Given the description of an element on the screen output the (x, y) to click on. 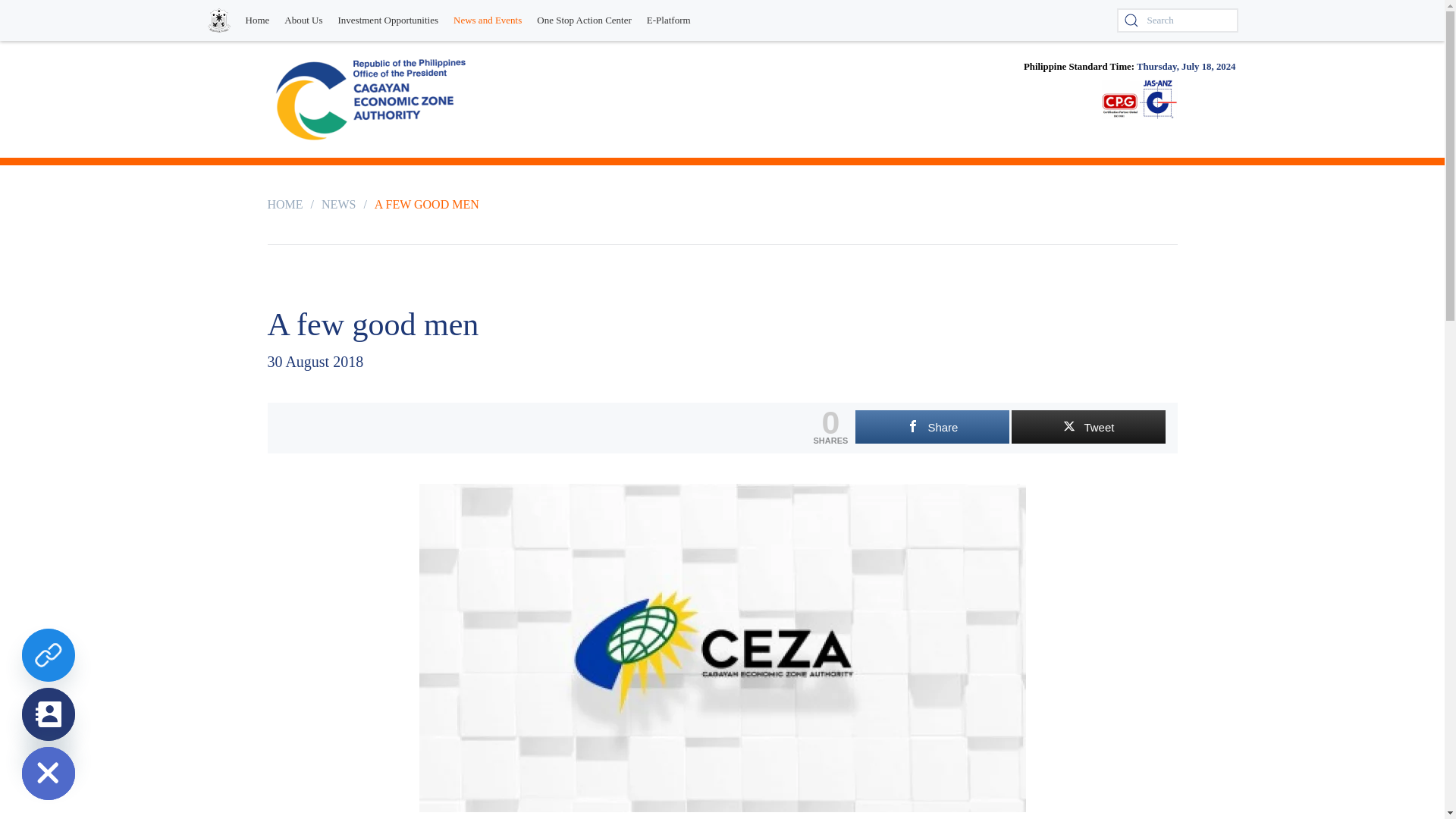
One Stop Action Center (584, 20)
Home (257, 20)
About Us (302, 20)
News and Events (486, 20)
Investment Opportunities (387, 20)
